Given the description of an element on the screen output the (x, y) to click on. 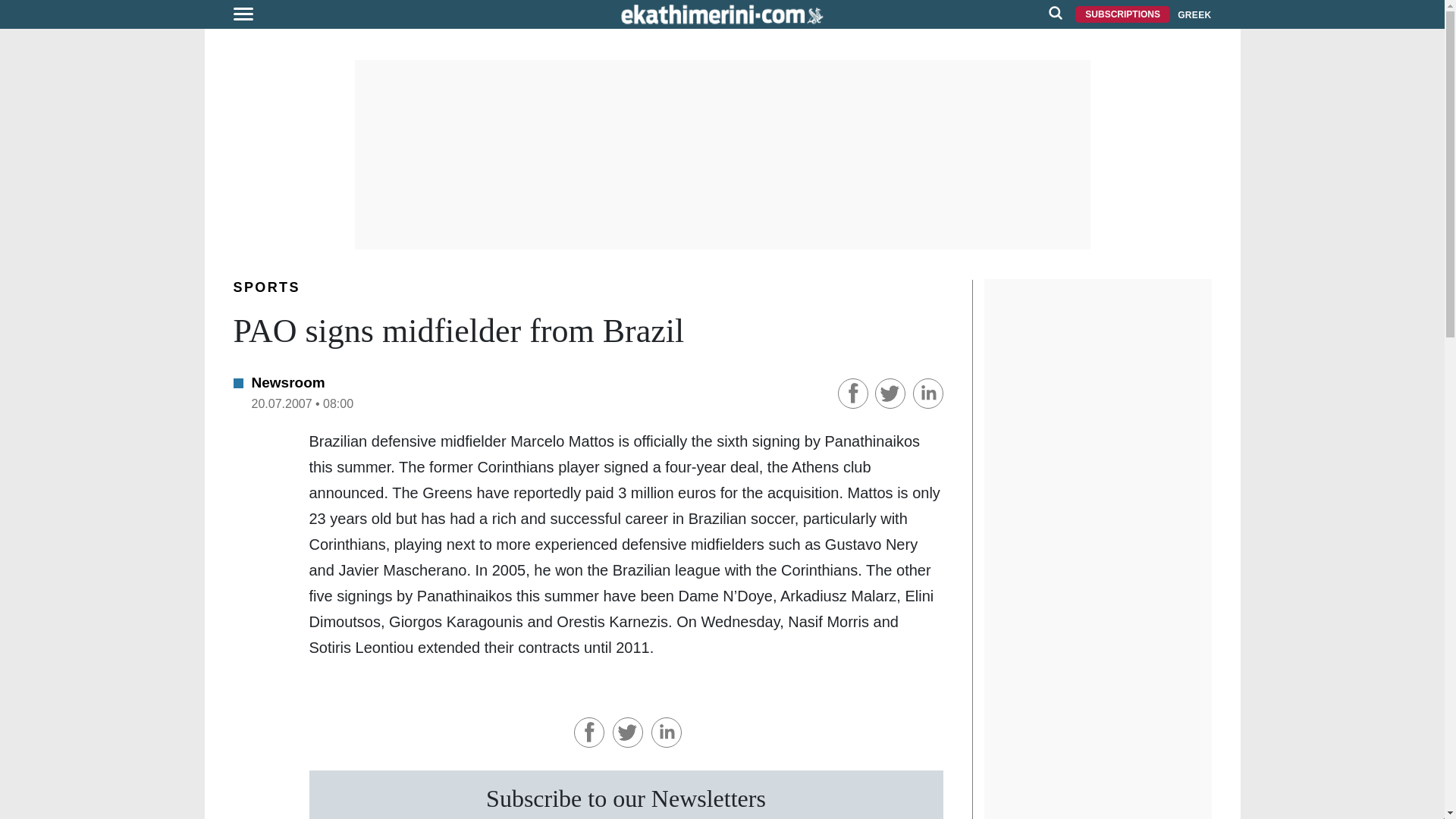
View all posts by Newsroom (287, 382)
